Given the description of an element on the screen output the (x, y) to click on. 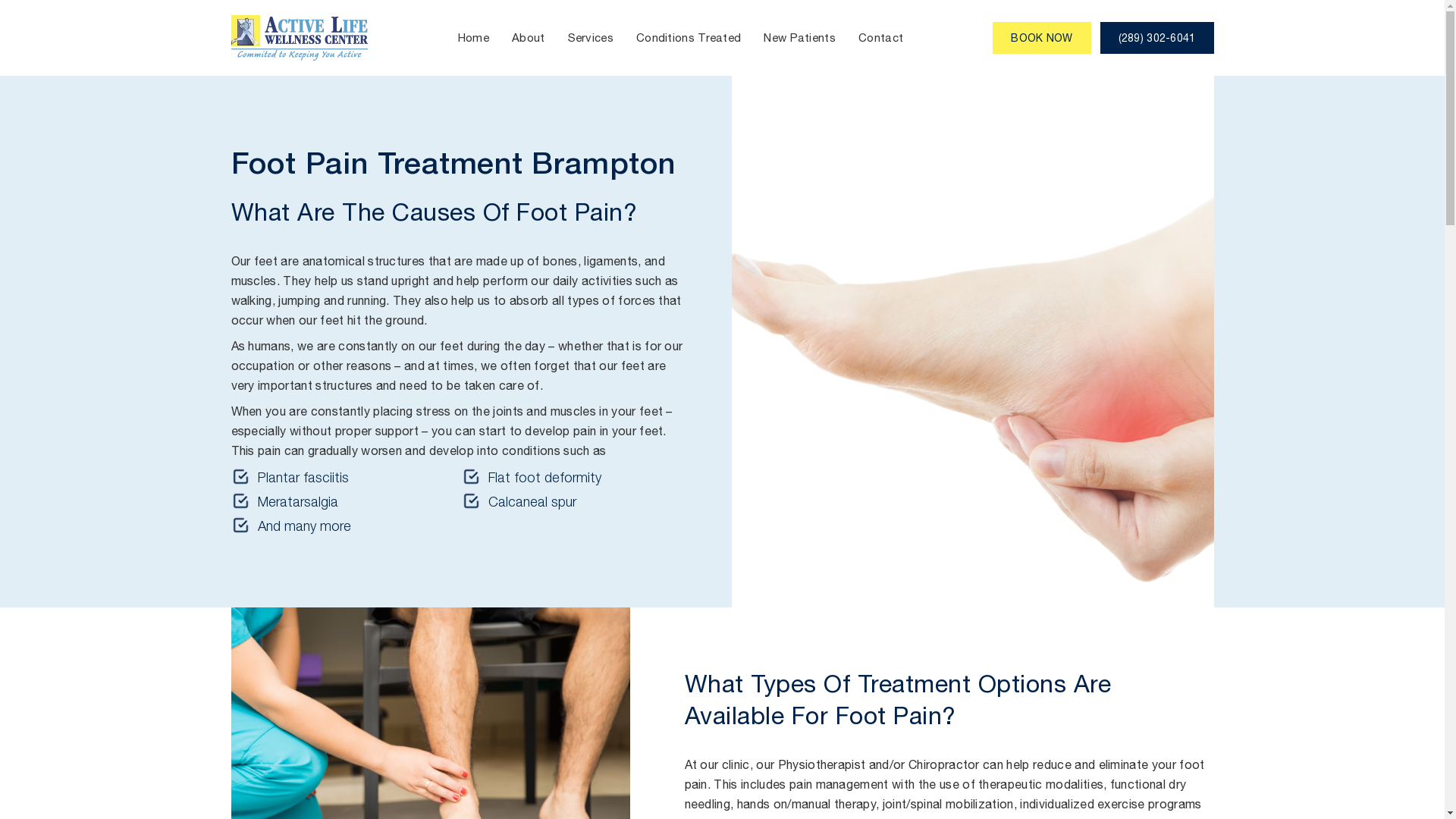
Conditions Treated Element type: text (688, 37)
Services Element type: text (590, 37)
BOOK NOW Element type: text (1041, 37)
(289) 302-6041 Element type: text (1157, 37)
New Patients Element type: text (799, 37)
Home Element type: text (473, 37)
Contact Element type: text (880, 37)
About Element type: text (528, 37)
